Given the description of an element on the screen output the (x, y) to click on. 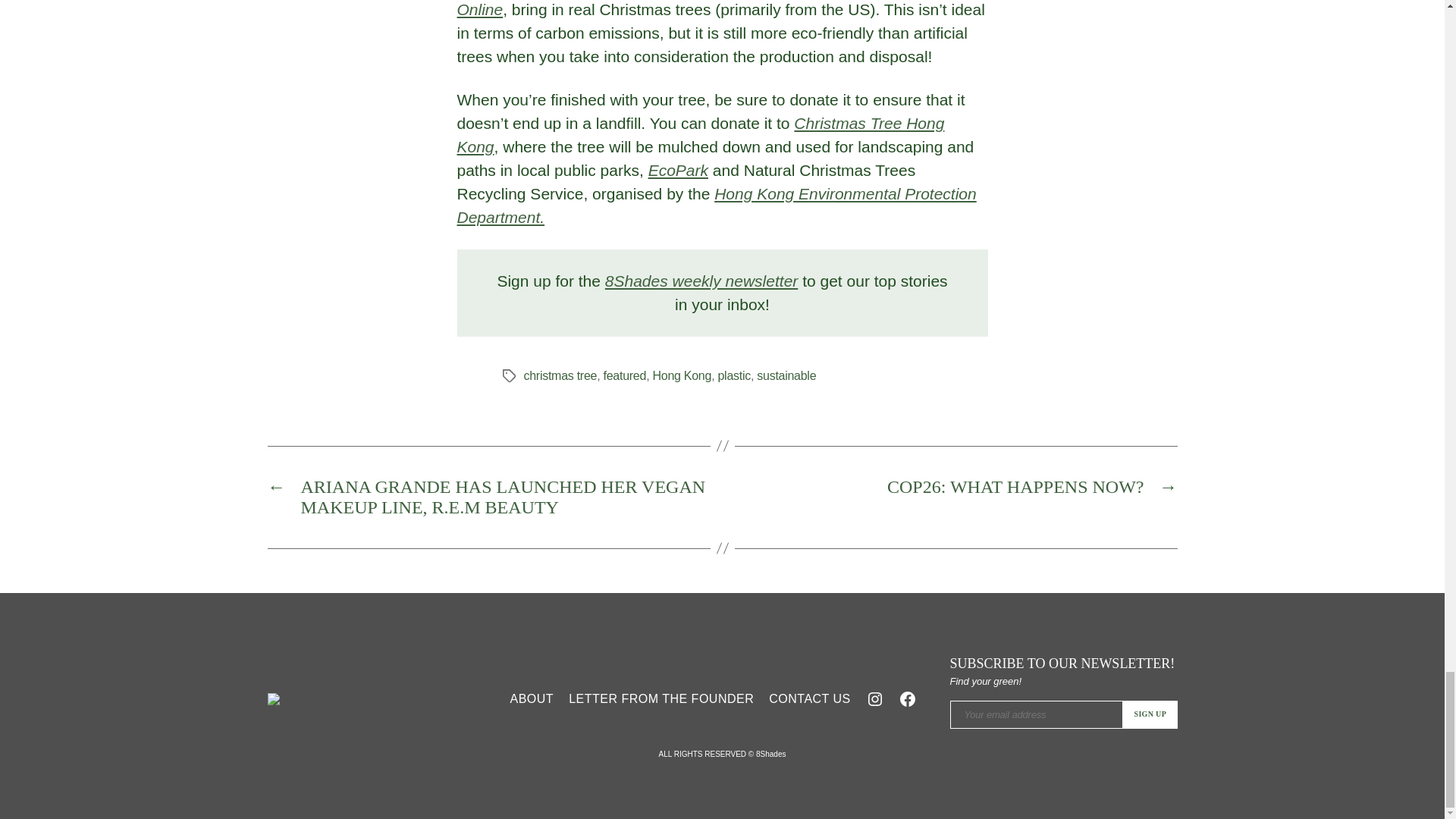
Sign Up (1149, 714)
